Given the description of an element on the screen output the (x, y) to click on. 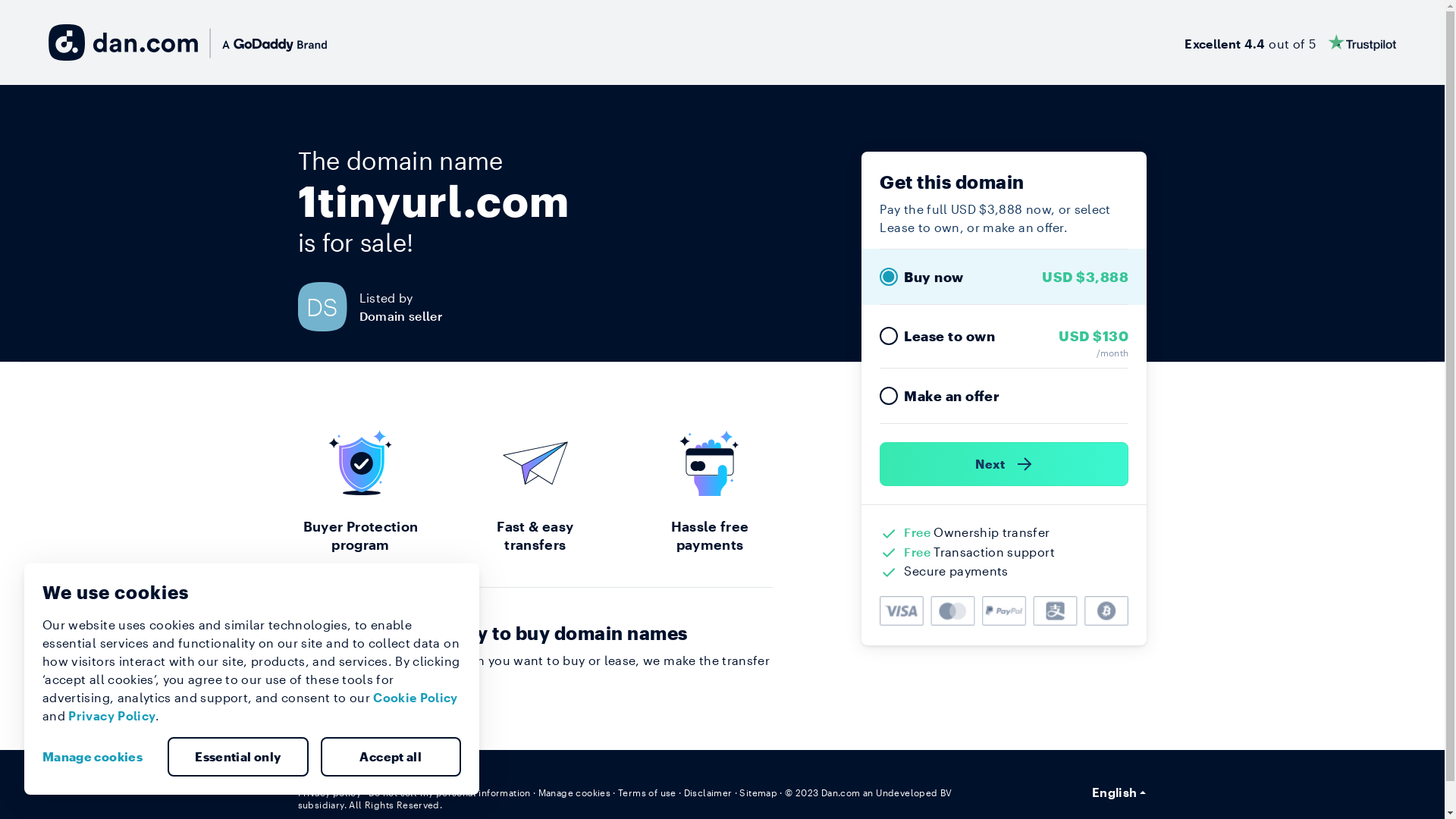
Accept all Element type: text (390, 756)
DS Element type: text (327, 306)
Privacy policy Element type: text (328, 792)
Manage cookies Element type: text (98, 756)
Manage cookies Element type: text (574, 792)
Terms of use Element type: text (647, 792)
Sitemap Element type: text (758, 792)
Essential only Element type: text (237, 756)
Cookie Policy Element type: text (415, 697)
Excellent 4.4 out of 5 Element type: text (1290, 42)
Do not sell my personal information Element type: text (449, 792)
Next
) Element type: text (1003, 464)
English Element type: text (1119, 792)
Privacy Policy Element type: text (111, 715)
Disclaimer Element type: text (708, 792)
